Given the description of an element on the screen output the (x, y) to click on. 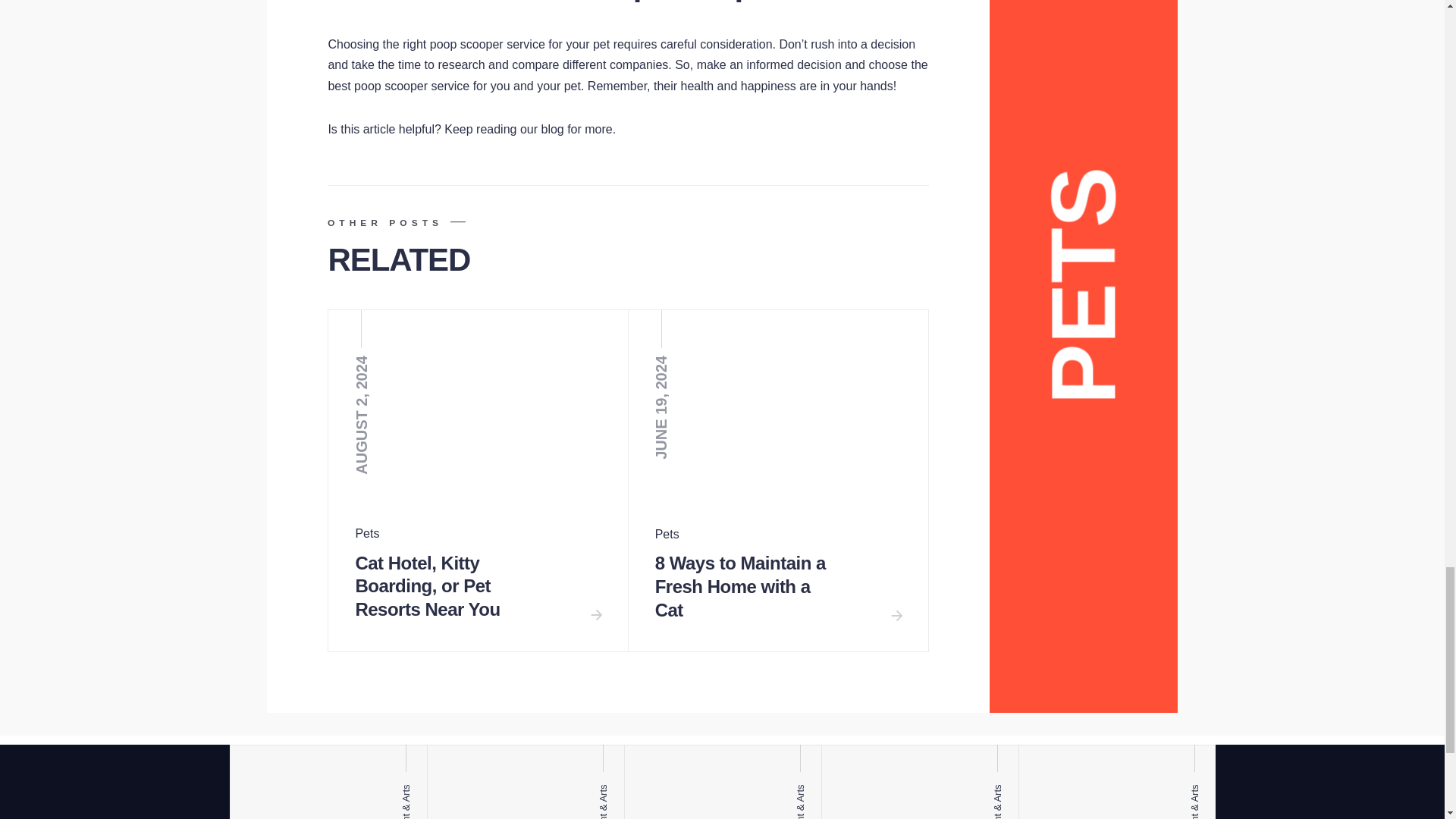
Pets (667, 533)
Cat Hotel, Kitty Boarding, or Pet Resorts Near You (427, 587)
Pets (366, 533)
